Given the description of an element on the screen output the (x, y) to click on. 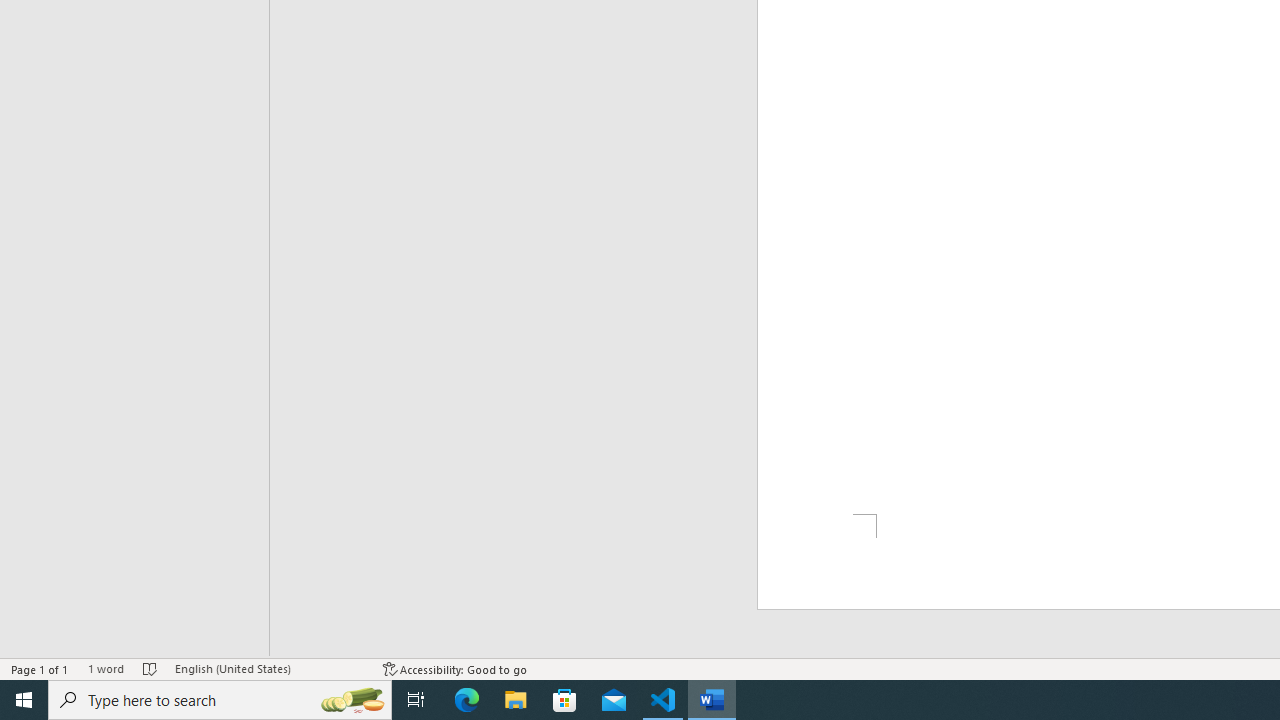
Page Number Page 1 of 1 (39, 668)
Language English (United States) (269, 668)
Accessibility Checker Accessibility: Good to go (455, 668)
Spelling and Grammar Check No Errors (150, 668)
